Given the description of an element on the screen output the (x, y) to click on. 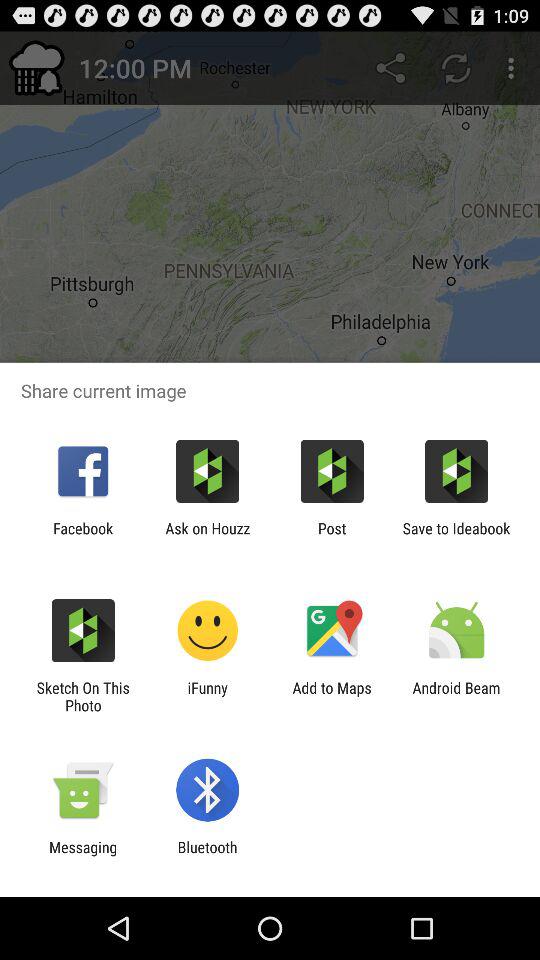
open the icon next to the post (456, 537)
